Given the description of an element on the screen output the (x, y) to click on. 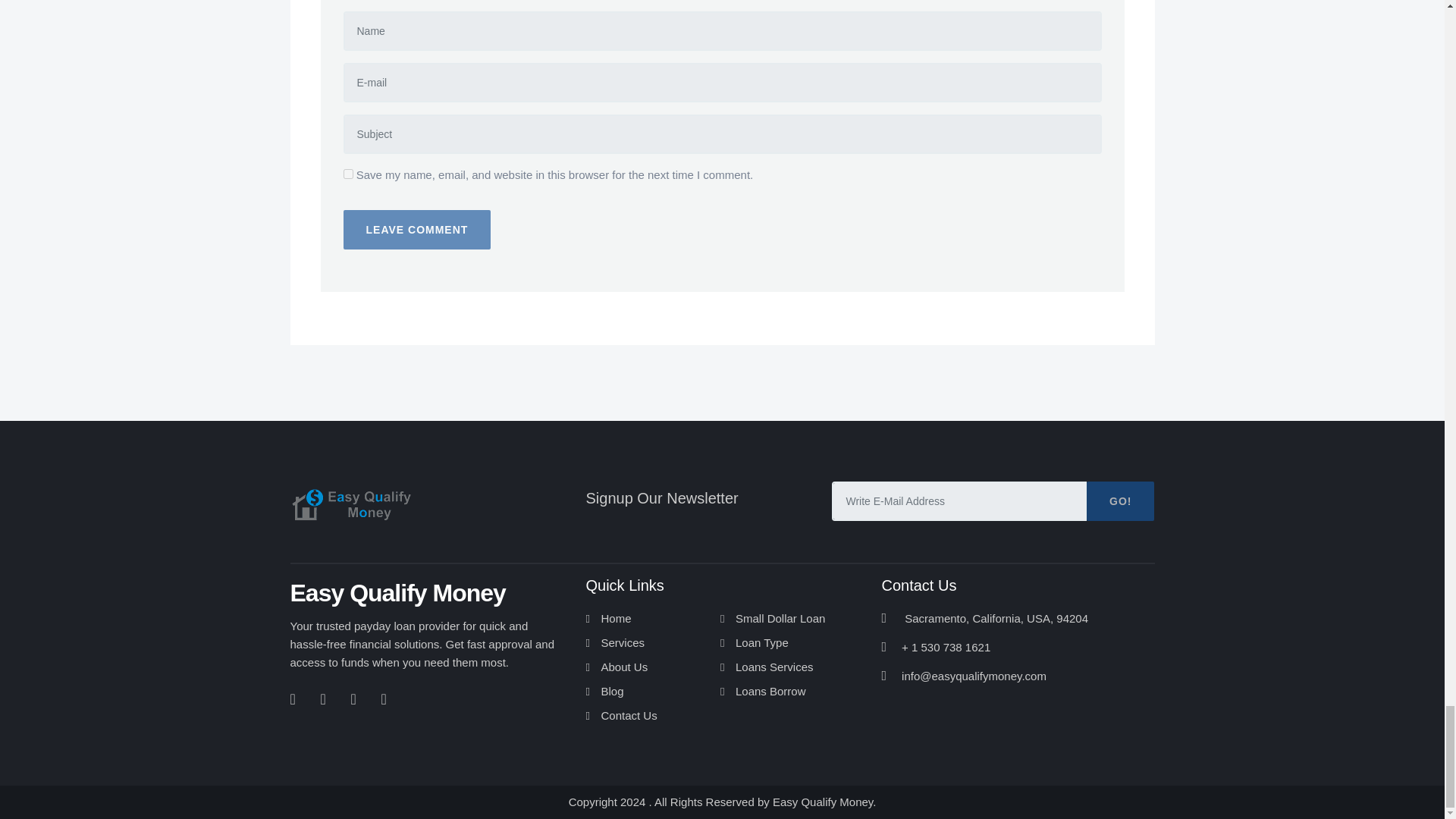
yes (347, 173)
Leave comment (416, 229)
